Given the description of an element on the screen output the (x, y) to click on. 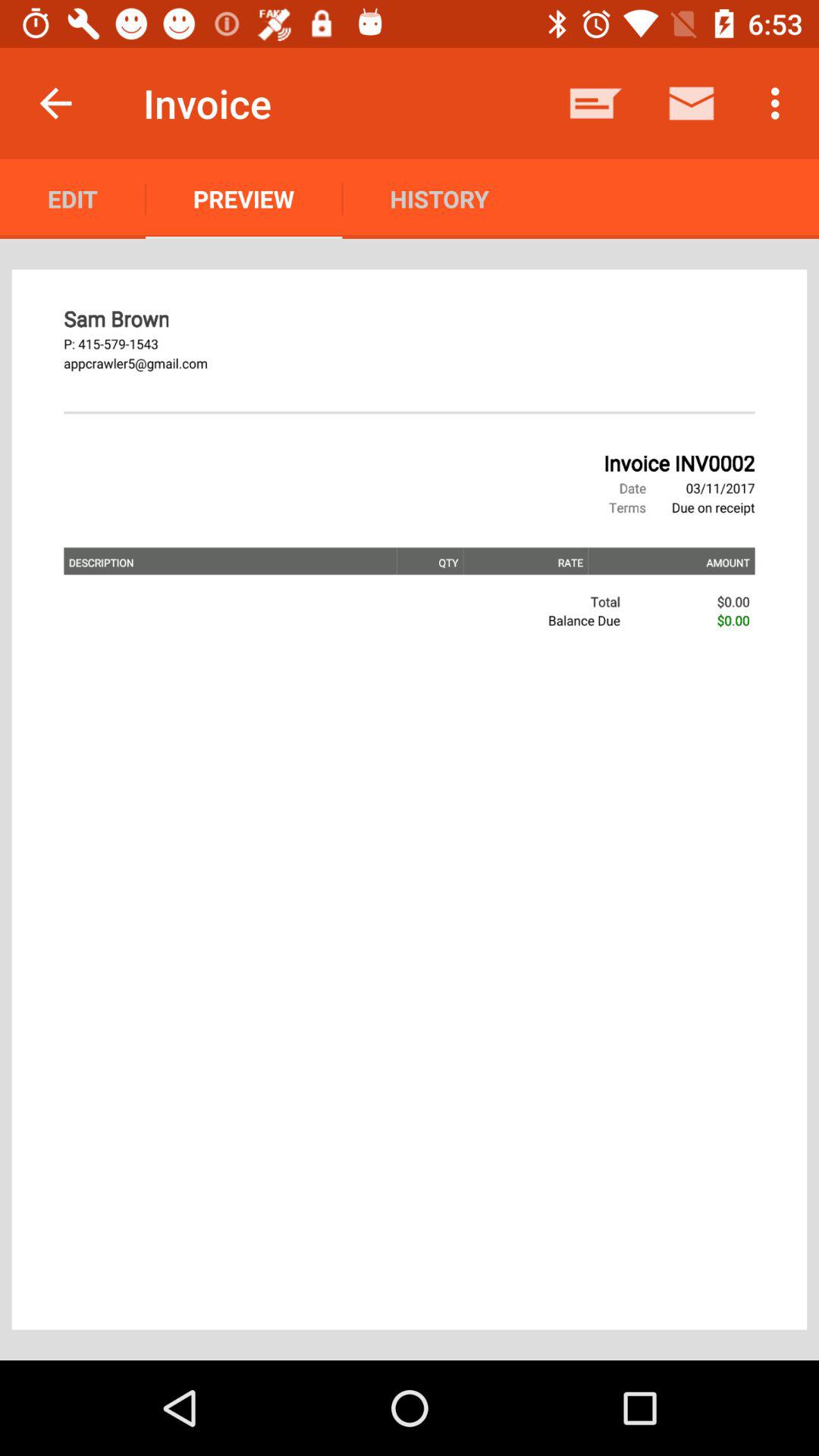
choose the item next to the invoice (55, 103)
